Given the description of an element on the screen output the (x, y) to click on. 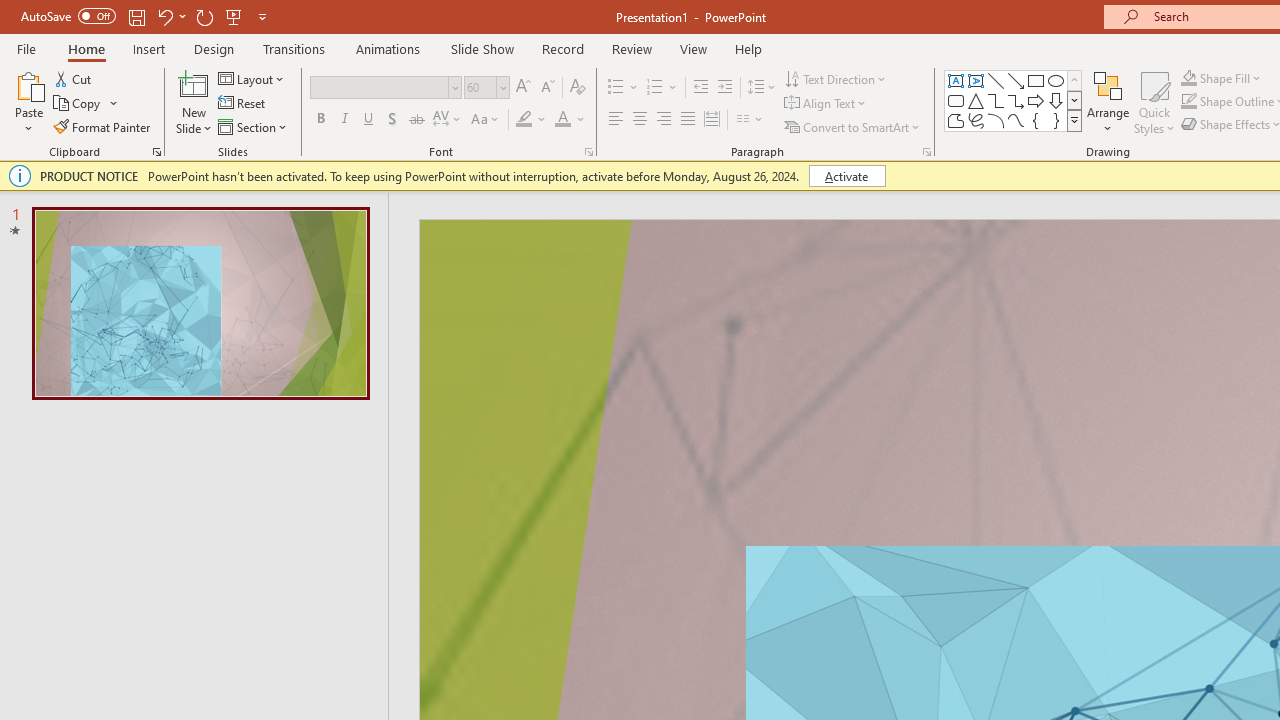
Shape Outline Dark Red, Accent 1 (1188, 101)
